Given the description of an element on the screen output the (x, y) to click on. 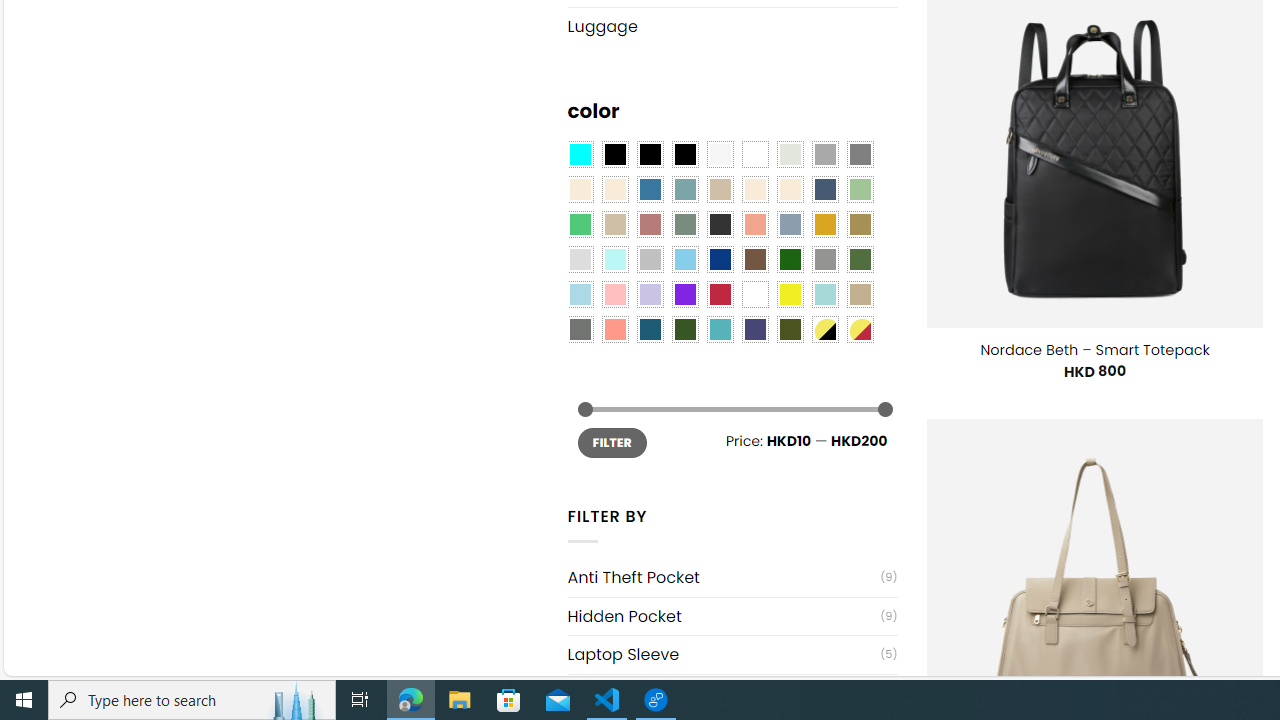
Black-Brown (684, 154)
Forest (684, 329)
Sage (684, 224)
Cream (789, 190)
Caramel (755, 190)
Purple Navy (755, 329)
Black (650, 154)
FILTER (612, 442)
Gold (824, 224)
All Black (614, 154)
Yellow (789, 295)
Peach Pink (614, 329)
Emerald Green (579, 224)
Coral (755, 224)
Luggage (732, 25)
